Given the description of an element on the screen output the (x, y) to click on. 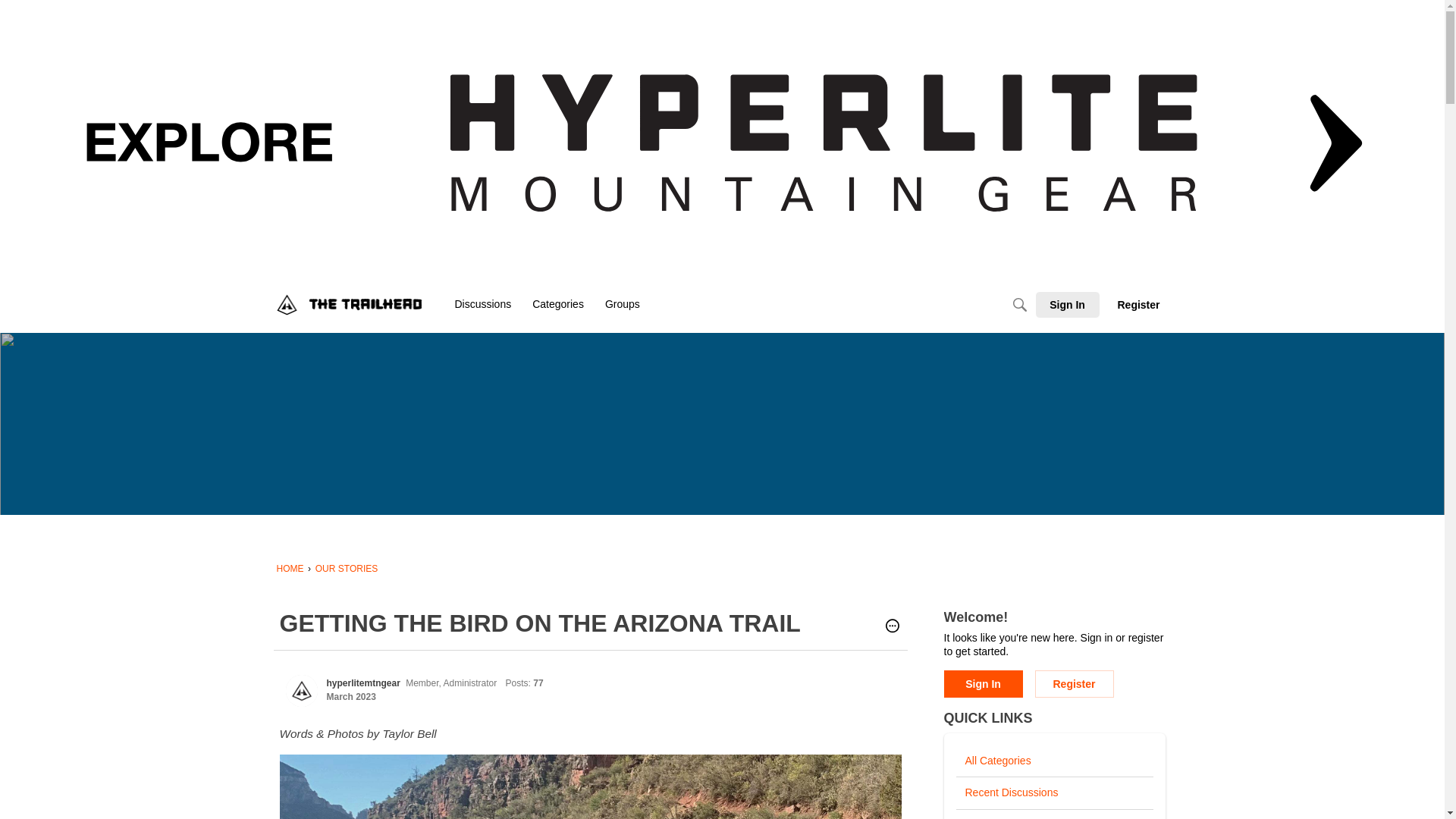
Sign In (1066, 304)
Discussions (483, 304)
hyperlitemtngear (301, 690)
Register (1073, 683)
HOME (289, 568)
Categories (557, 304)
March 3, 2023 3:11PM (350, 696)
Activity (1054, 814)
Recent Discussions (1054, 793)
All Categories (1054, 761)
Groups (622, 304)
Search (1019, 304)
Sign In (982, 683)
Register (1137, 304)
Sign In (982, 683)
